Given the description of an element on the screen output the (x, y) to click on. 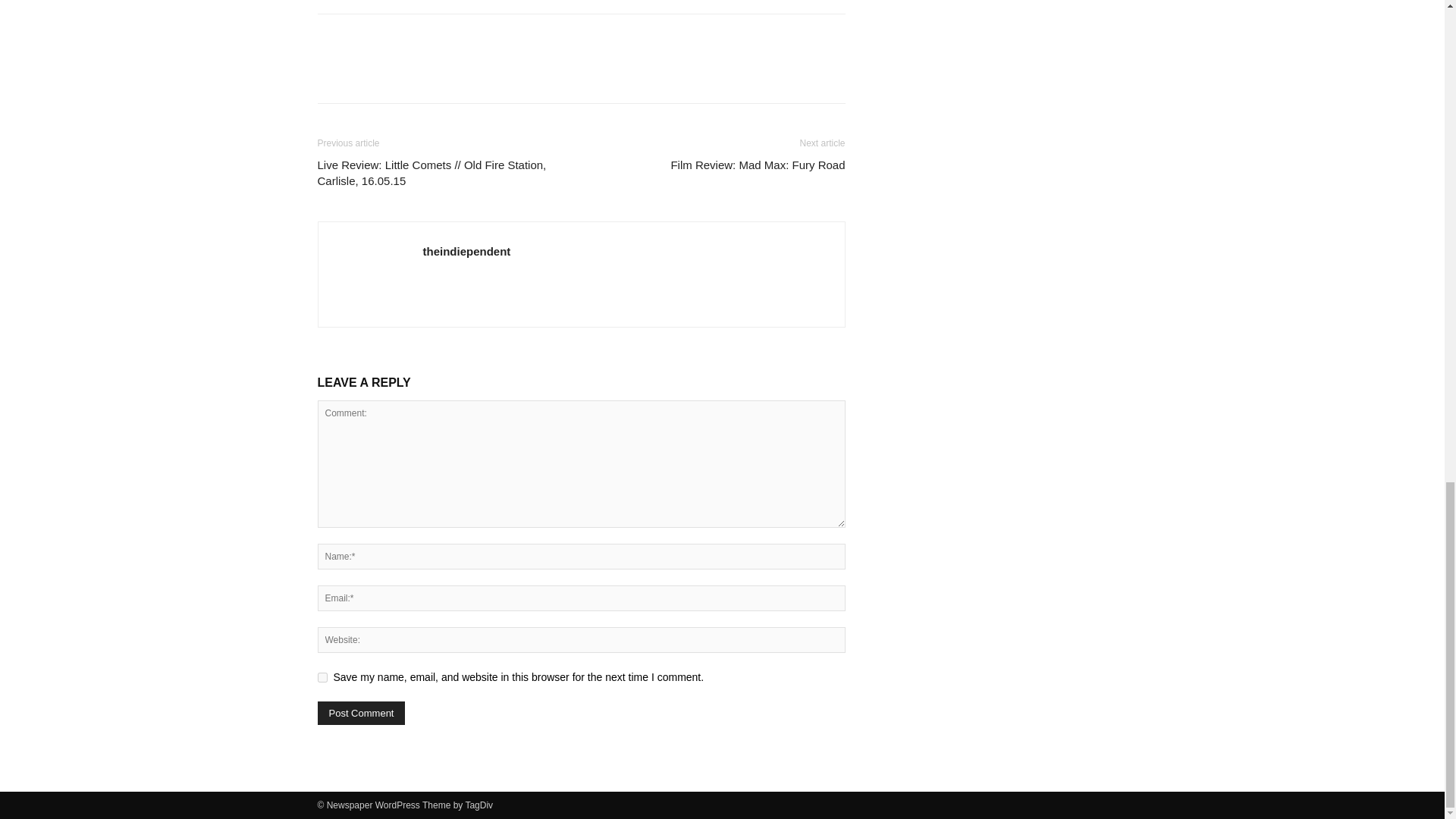
yes (321, 677)
Post Comment (360, 712)
bottomFacebookLike (430, 37)
